Given the description of an element on the screen output the (x, y) to click on. 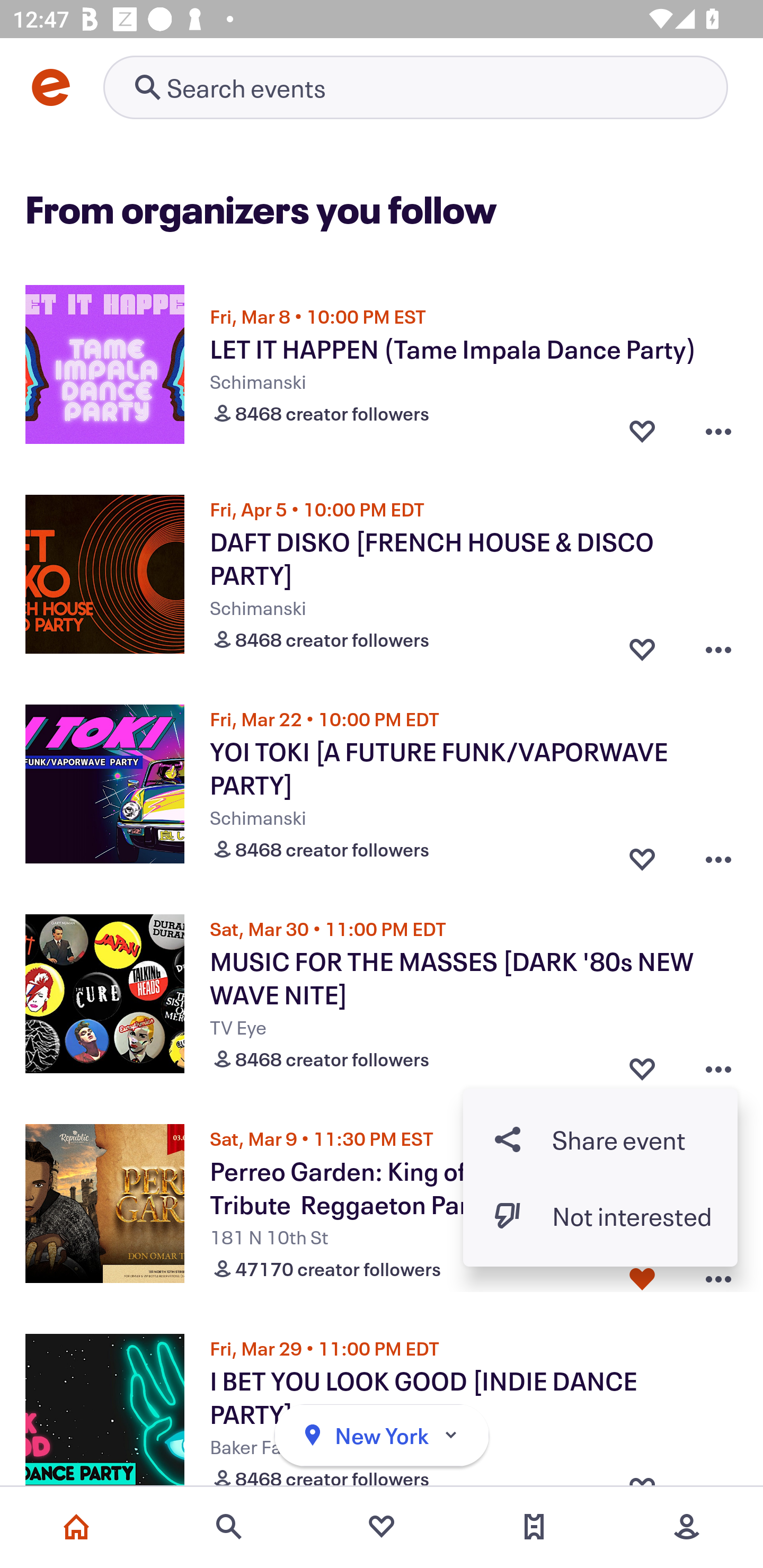
Share button Share event (600, 1138)
Dislike event button Not interested (600, 1215)
